Given the description of an element on the screen output the (x, y) to click on. 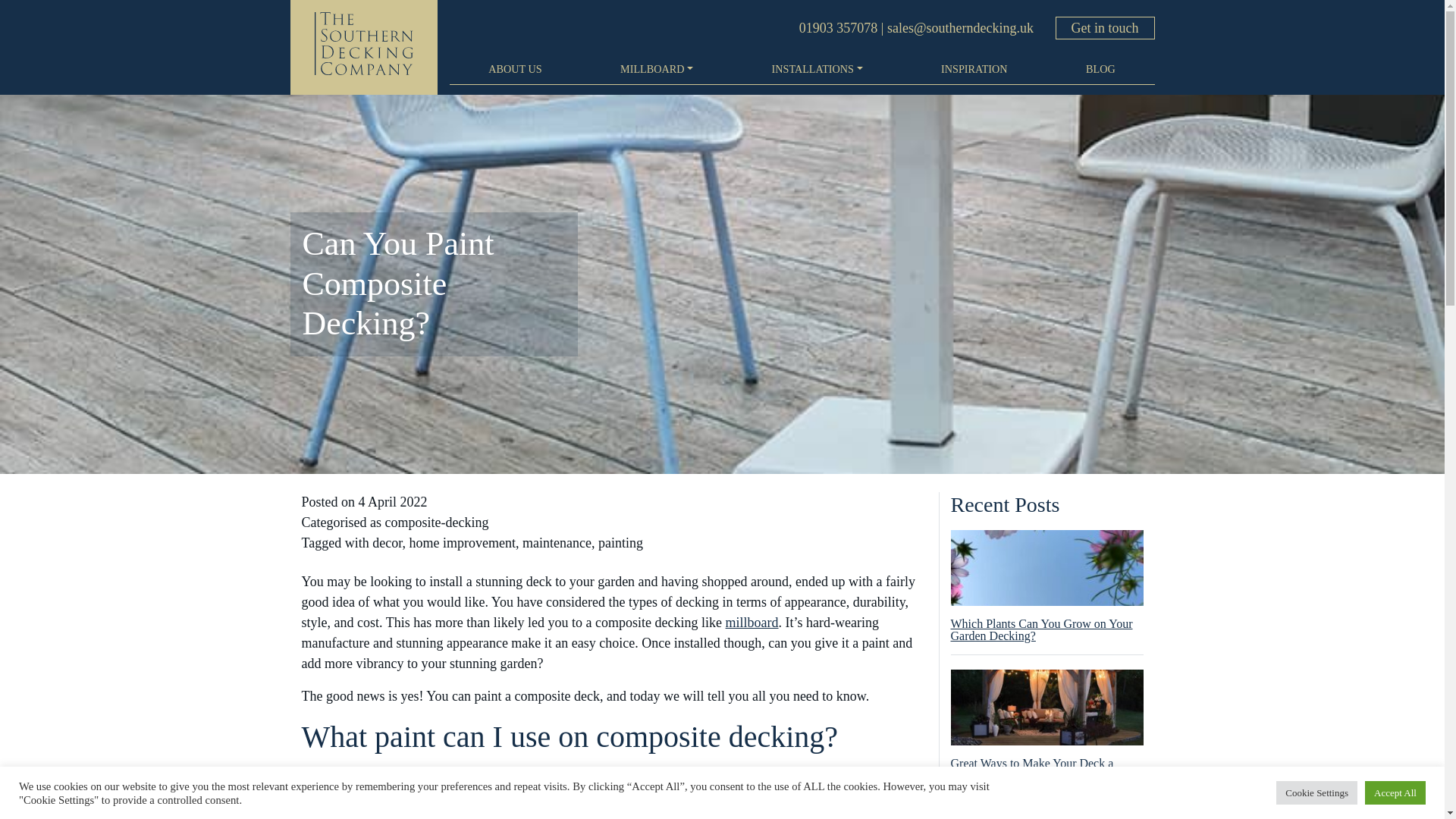
INSTALLATIONS (817, 68)
01903 357078 (838, 28)
Blog (1100, 68)
Millboard (656, 68)
ABOUT US (514, 68)
Great Ways to Make Your Deck a Summer Success (1046, 732)
millboard (751, 622)
Get in touch (1104, 27)
About Us (514, 68)
BLOG (1100, 68)
Which Plants Can You Grow on Your Garden Decking? (1046, 593)
INSPIRATION (973, 68)
Installations (817, 68)
MILLBOARD (656, 68)
Inspiration (973, 68)
